Given the description of an element on the screen output the (x, y) to click on. 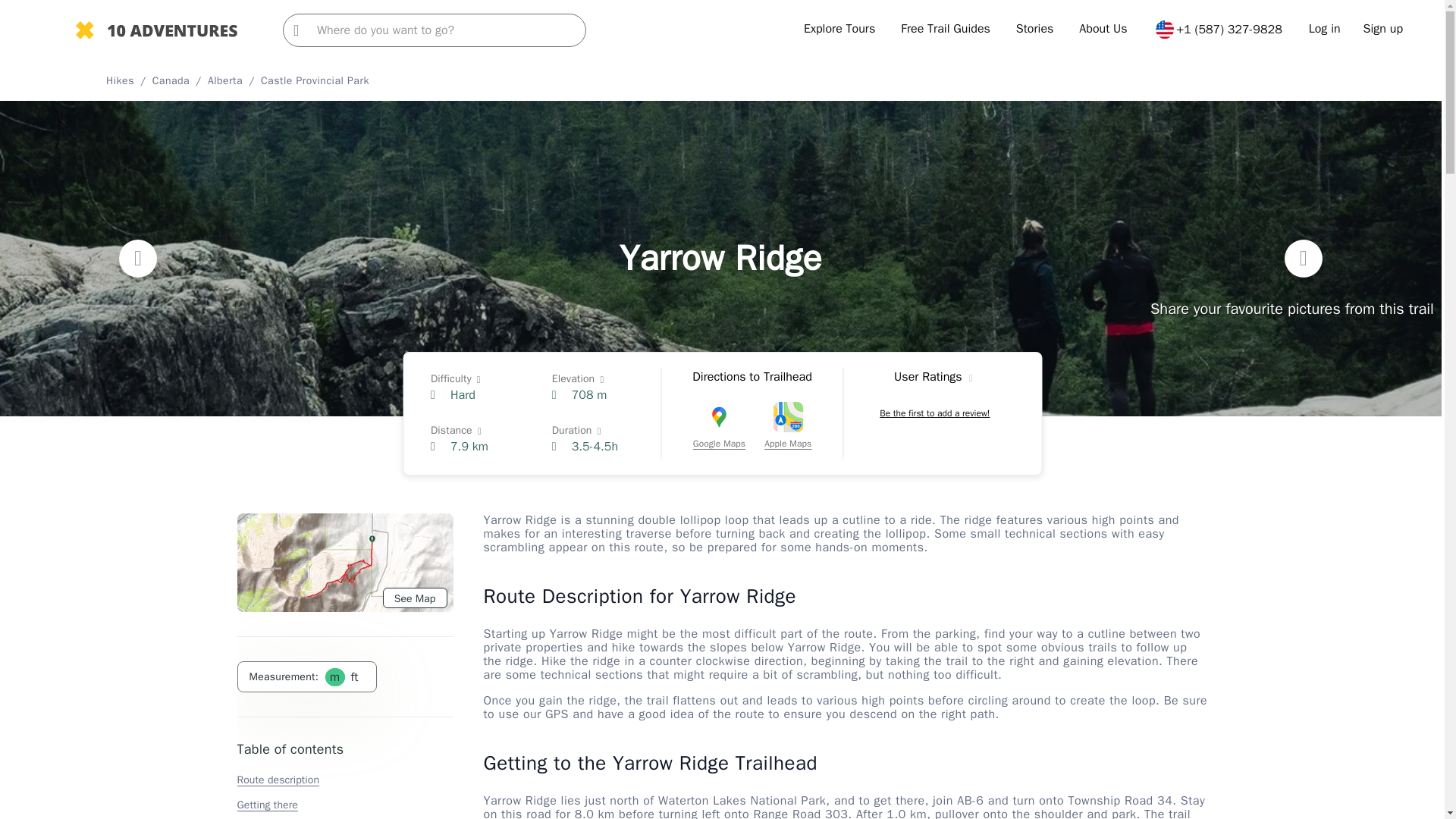
Be the first to add a review! (934, 413)
Stories (1034, 28)
Google Maps (718, 428)
Sign up (1382, 28)
Getting there (266, 804)
Alberta (225, 80)
metric (333, 676)
Route description (276, 779)
Castle Provincial Park (314, 80)
Hikes (119, 80)
Canada (170, 80)
Explore Tours (839, 28)
About Us (1102, 28)
imperial (353, 676)
Free Trail Guides (945, 28)
